Given the description of an element on the screen output the (x, y) to click on. 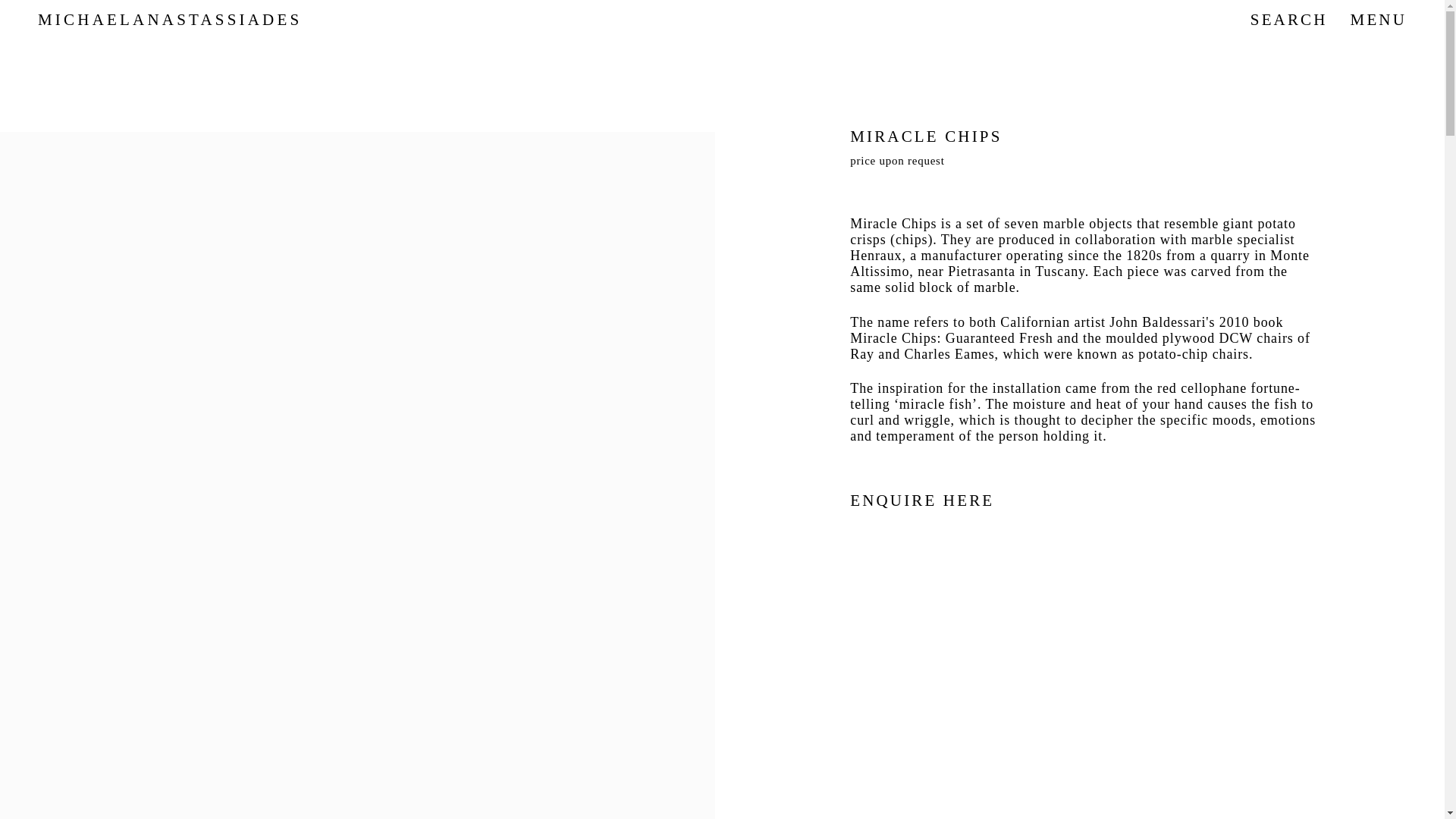
MICHAELANASTASSIADES (169, 19)
MENU (1378, 20)
ENQUIRE HERE (922, 501)
SEARCH (1288, 20)
